Given the description of an element on the screen output the (x, y) to click on. 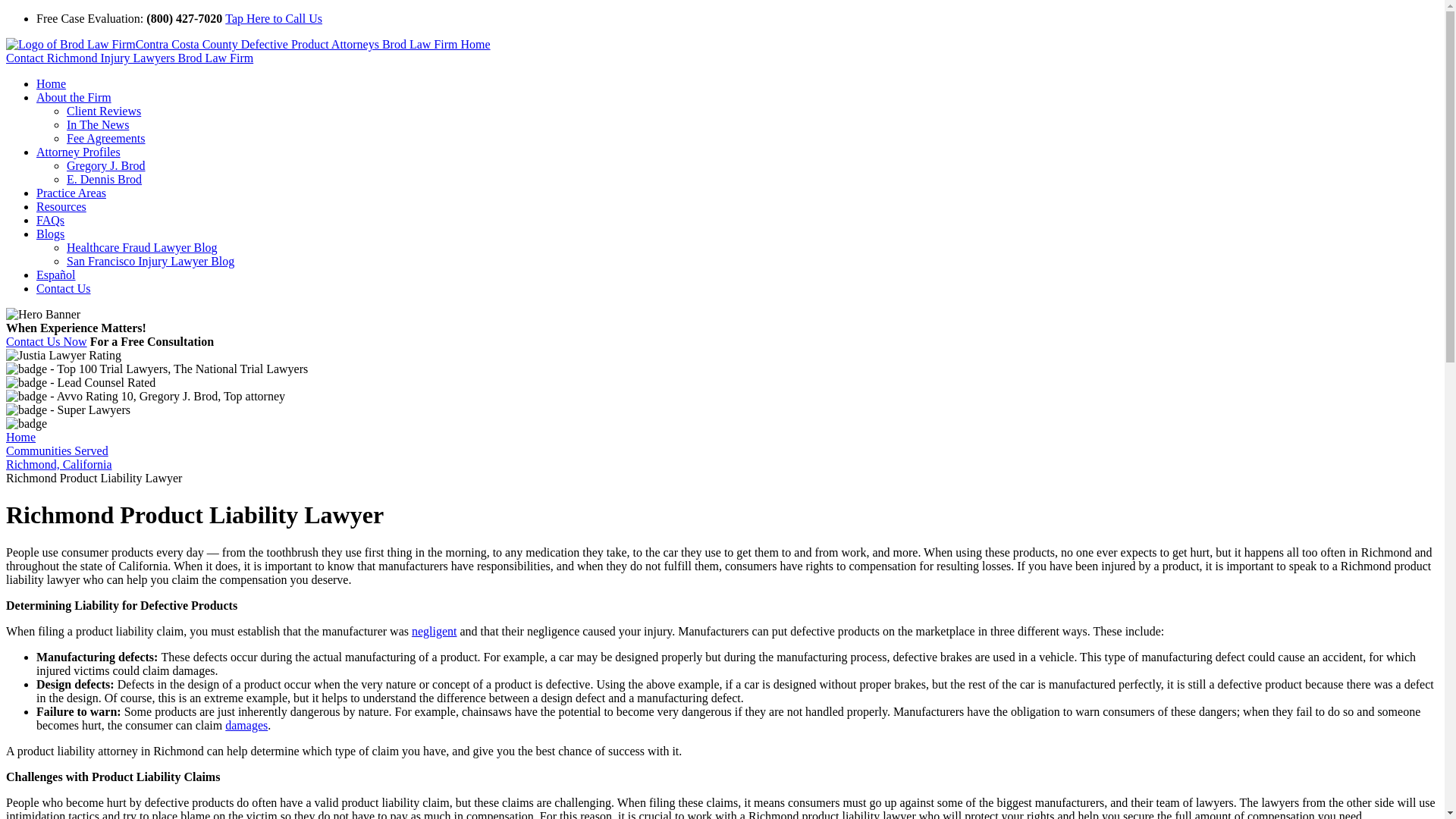
negligent (434, 631)
Contact Richmond Injury Lawyers Brod Law Firm (129, 57)
About the Firm (74, 97)
Blogs (50, 233)
Back to Home (247, 43)
Resources (60, 205)
Contact Us Now (46, 341)
Home (50, 83)
Gregory J. Brod (105, 164)
E. Dennis Brod (103, 178)
